Given the description of an element on the screen output the (x, y) to click on. 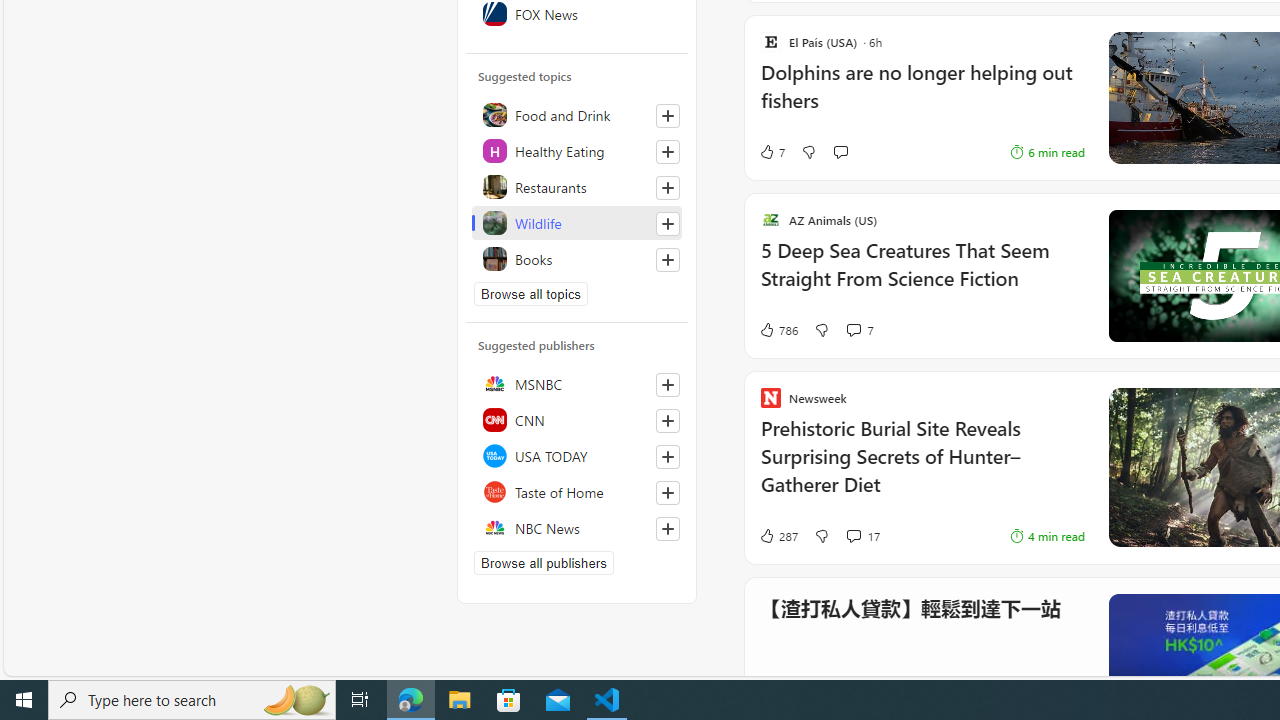
Browse all topics (530, 294)
CNN (577, 420)
Follow this source (667, 528)
Books (577, 258)
View comments 7 Comment (859, 330)
Taste of Home (577, 492)
5 Deep Sea Creatures That Seem Straight From Science Fiction (922, 275)
MSNBC (577, 384)
Healthy Eating (577, 150)
Dolphins are no longer helping out fishers (922, 97)
View comments 7 Comment (852, 330)
